Given the description of an element on the screen output the (x, y) to click on. 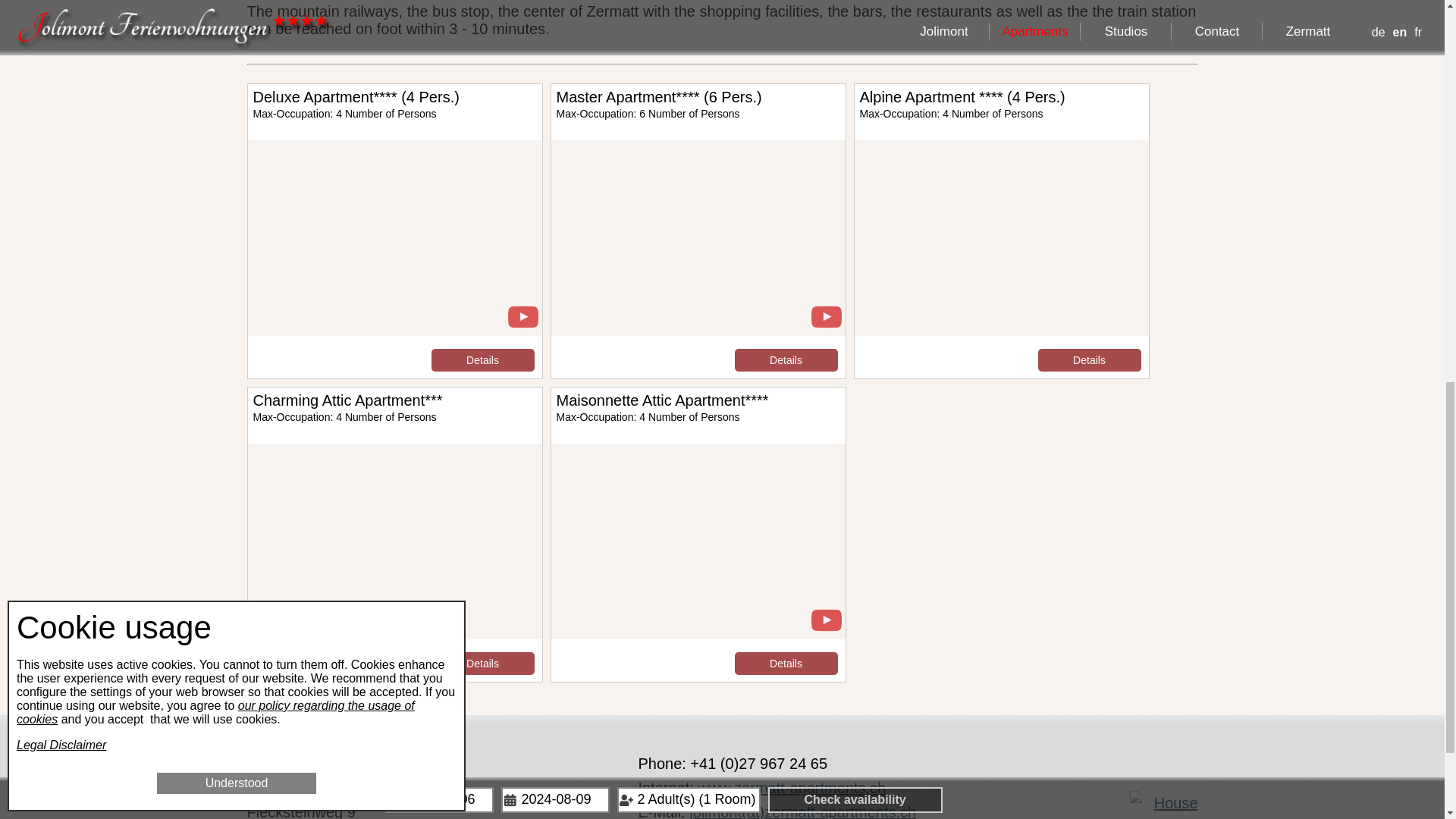
Details (482, 359)
